Given the description of an element on the screen output the (x, y) to click on. 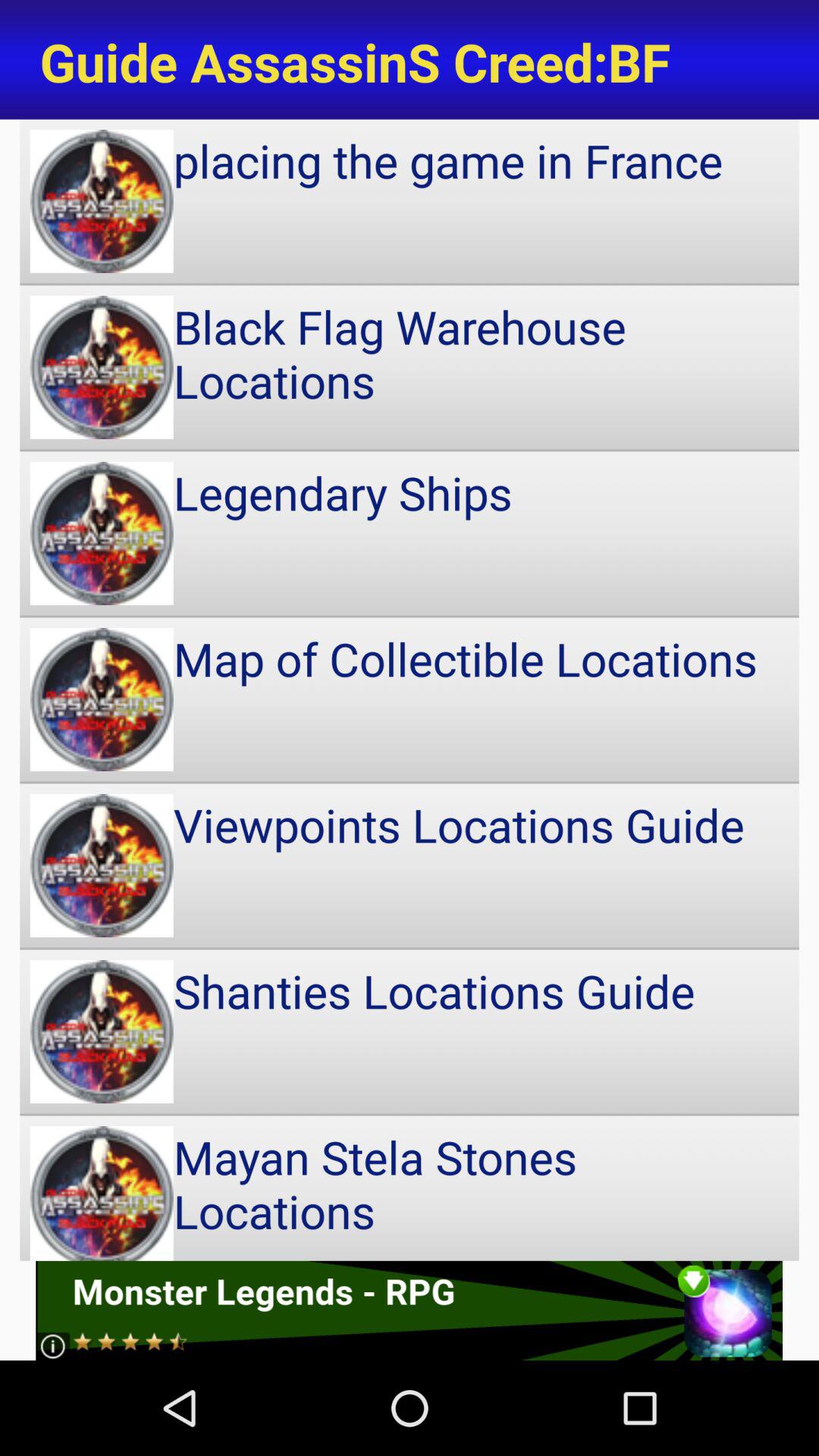
turn off shanties locations guide item (409, 1031)
